Given the description of an element on the screen output the (x, y) to click on. 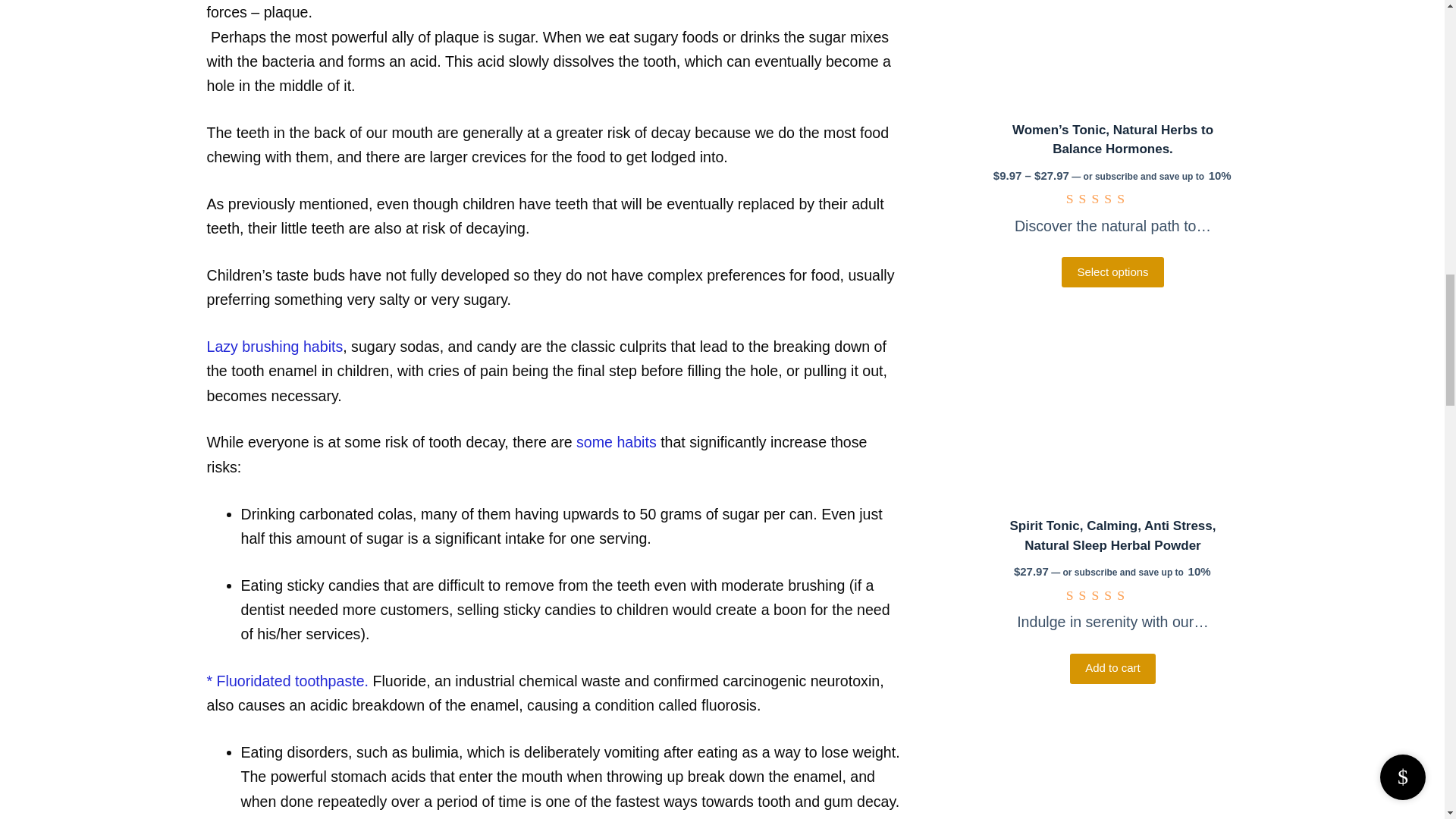
Gumtite, Oil Pulling (1112, 764)
Spirit Tonic (1112, 407)
Women Love Tonic (1112, 53)
